Given the description of an element on the screen output the (x, y) to click on. 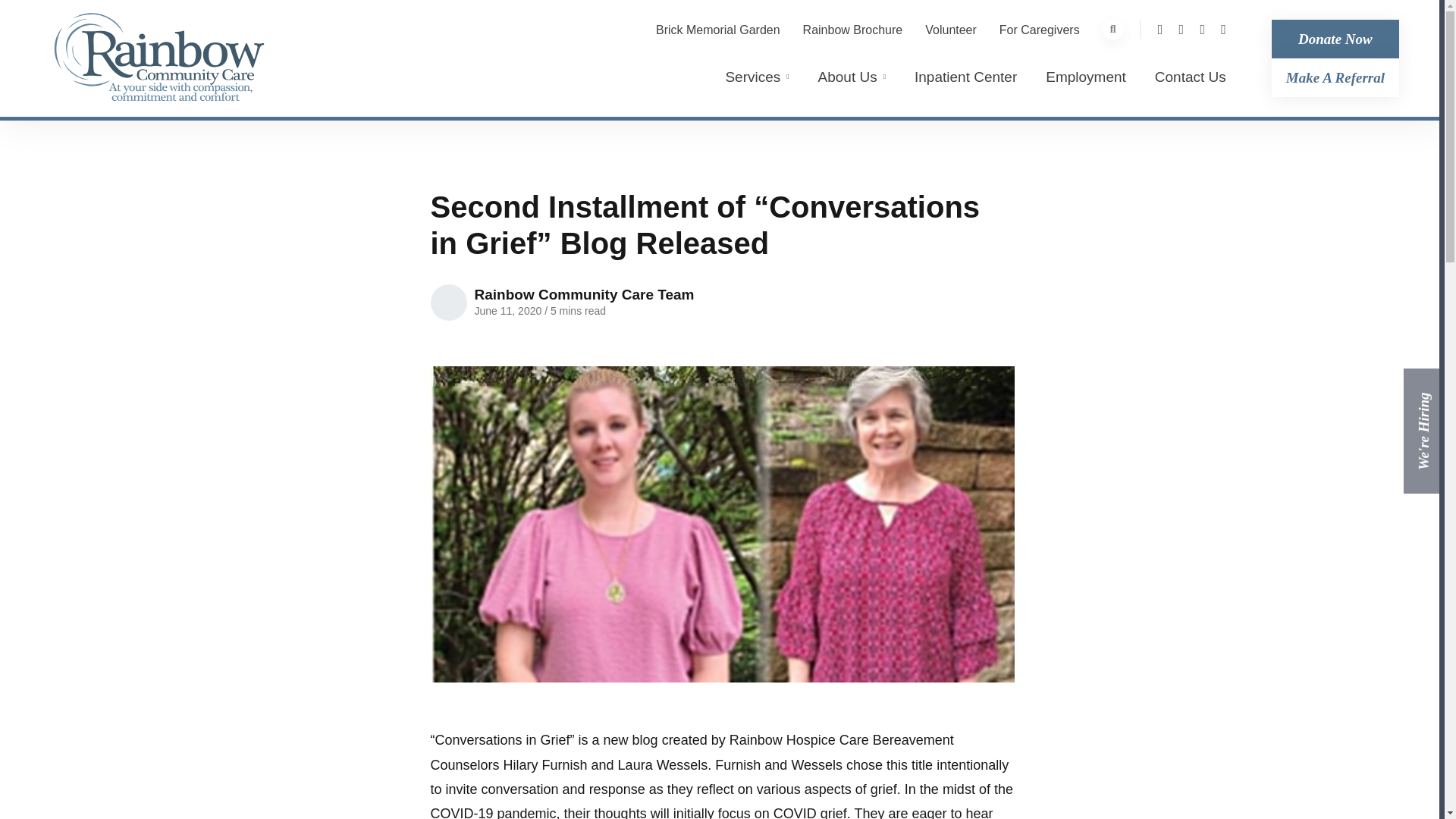
Make A Referral (1335, 77)
Donate Now (1335, 38)
Employment (1085, 84)
About Us (851, 84)
Home (159, 57)
For Caregivers (1039, 29)
Rainbow Brochure (852, 29)
Volunteer (950, 29)
Contact Us (1189, 84)
Inpatient Center (965, 84)
